Given the description of an element on the screen output the (x, y) to click on. 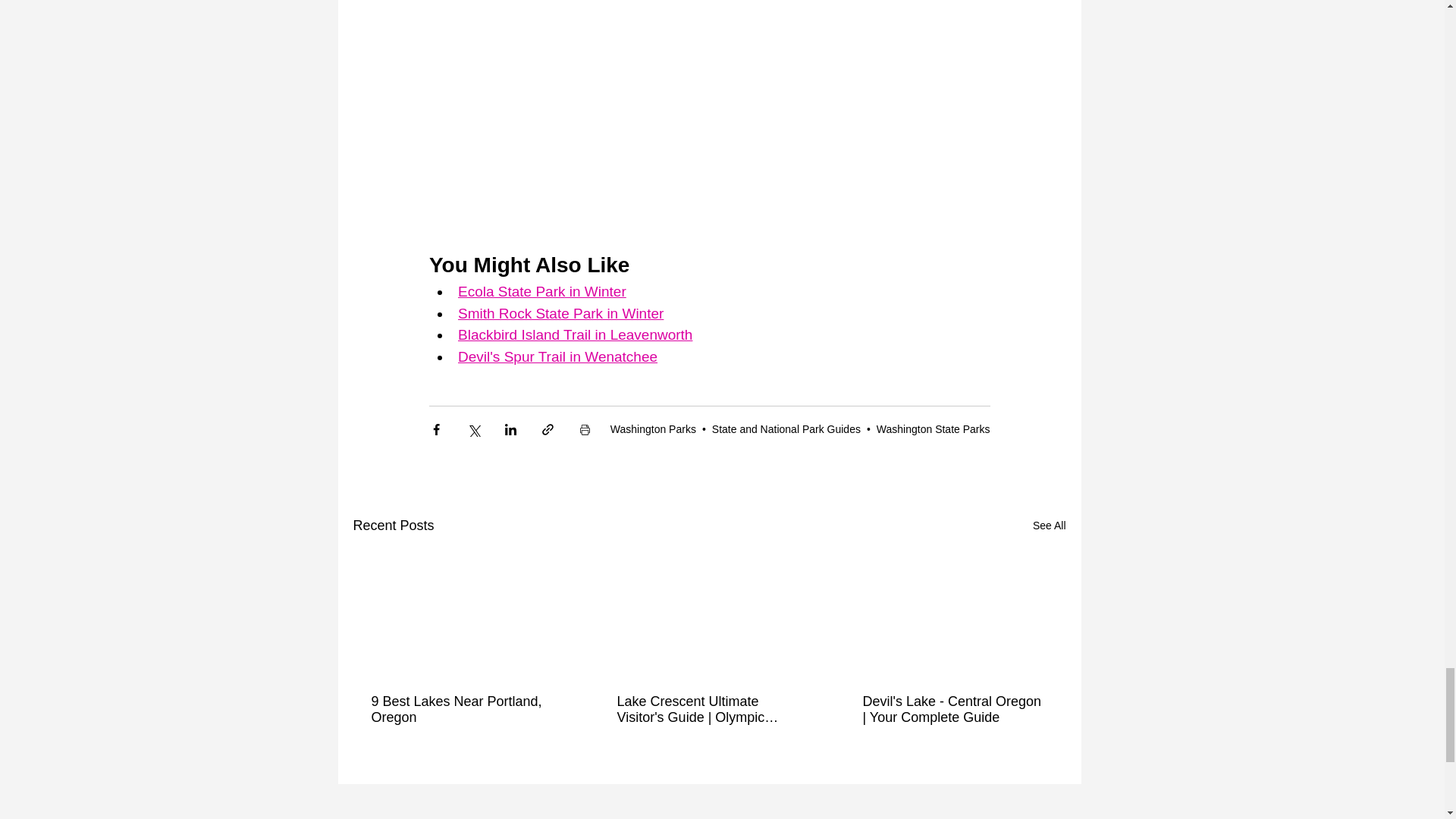
Washington Parks (652, 428)
State and National Park Guides (785, 428)
Smith Rock State Park in Winter (560, 313)
Devil's Spur Trail in Wenatchee (558, 356)
Washington State Parks (933, 428)
9 Best Lakes Near Portland, Oregon (462, 709)
Ecola State Park in Winter (542, 291)
Blackbird Island Trail in Leavenworth (575, 334)
See All (1048, 526)
